Given the description of an element on the screen output the (x, y) to click on. 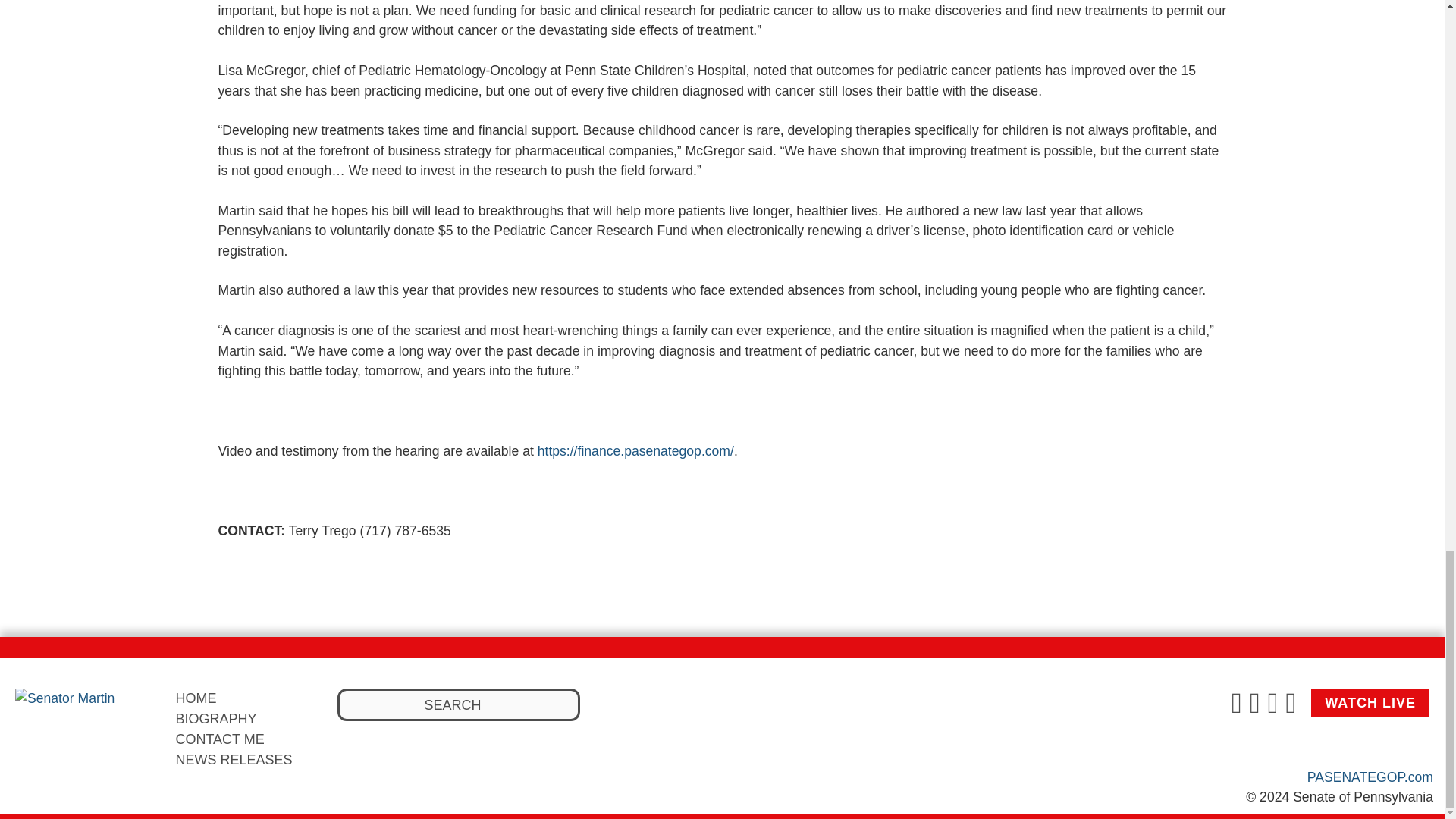
CONTACT ME (218, 739)
NEWS RELEASES (233, 759)
HOME (194, 698)
BIOGRAPHY (215, 718)
